Given the description of an element on the screen output the (x, y) to click on. 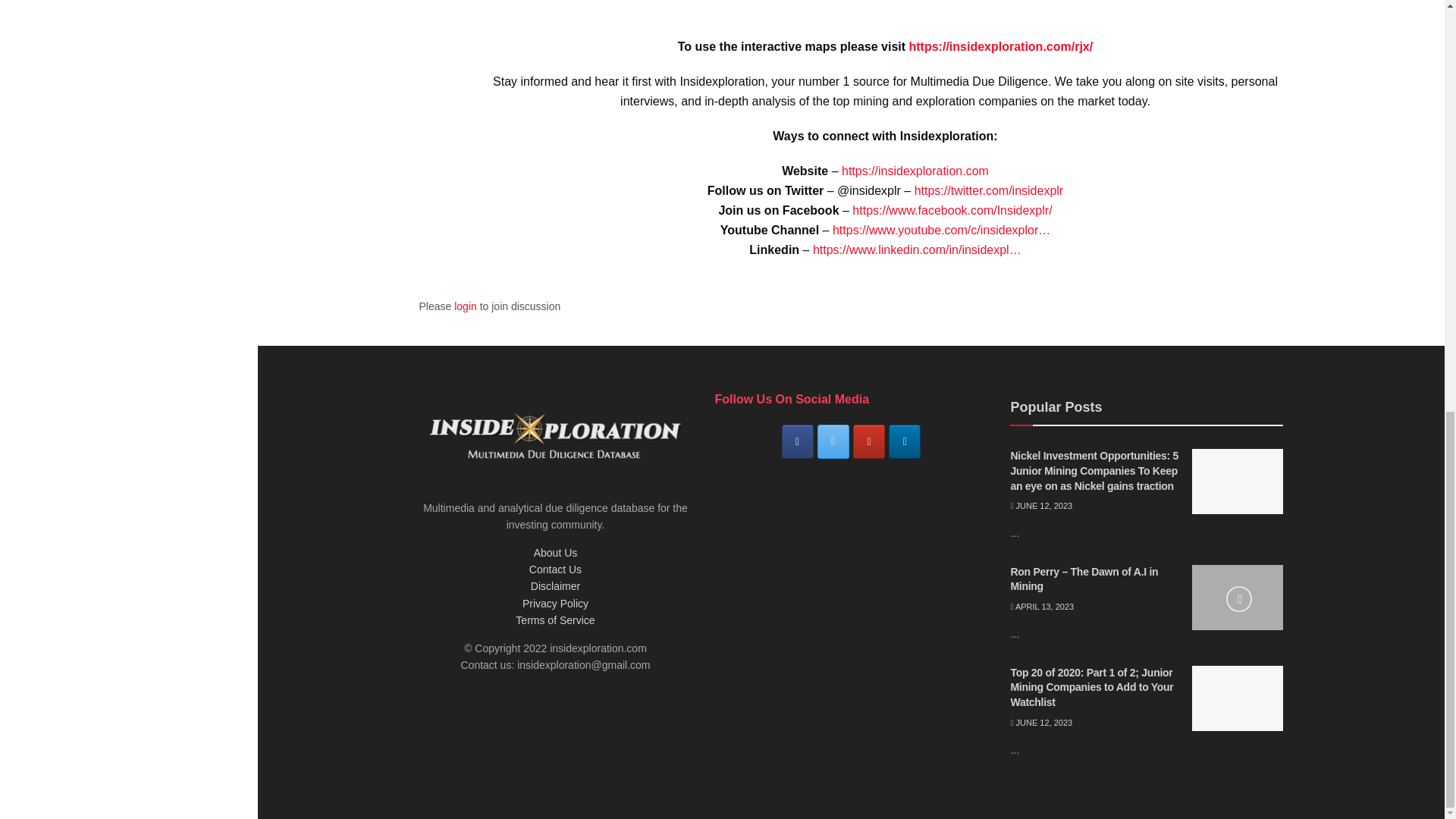
LinkedIn (904, 441)
Twitter (832, 441)
Facebook (797, 441)
Youtube (869, 441)
